Given the description of an element on the screen output the (x, y) to click on. 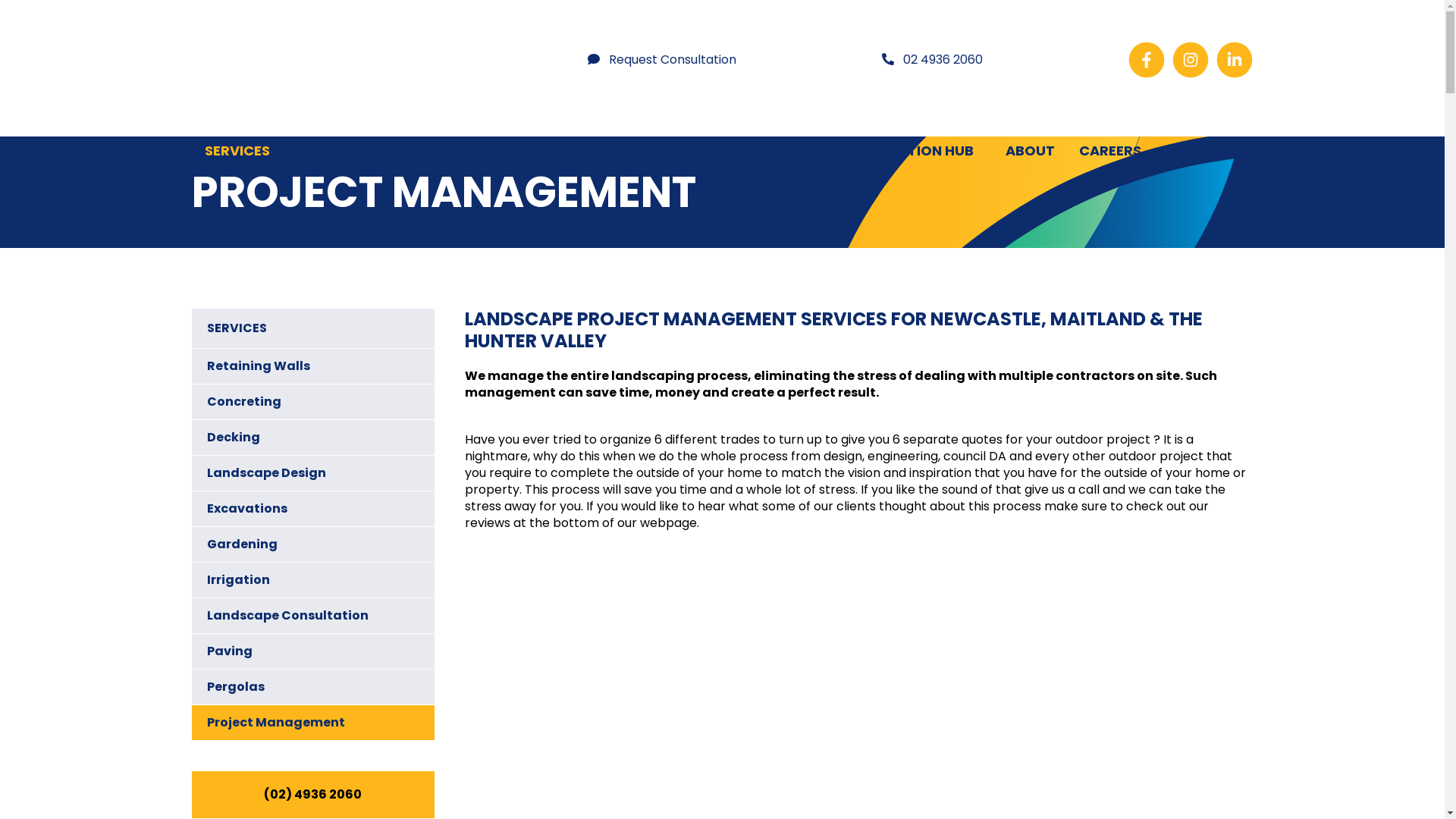
PERGOLAS Element type: text (961, 182)
Paving Element type: text (312, 650)
Excavations Element type: text (312, 508)
EXCAVATIONS Element type: text (509, 182)
Landscape Consultation Element type: text (312, 615)
SERVICES Element type: text (312, 328)
Jason Reading Landscapes Element type: hover (316, 59)
Concreting Element type: text (312, 401)
DESIGN Element type: text (320, 150)
Retaining Walls Element type: text (312, 365)
Pergolas Element type: text (312, 686)
CAREERS Element type: text (1110, 150)
Landscape Design Element type: text (312, 472)
GARDENING Element type: text (608, 182)
DECKING Element type: text (331, 182)
EDUCATION HUB Element type: text (917, 150)
Gardening Element type: text (312, 544)
Project Management Element type: text (312, 722)
LANDSCAPE DESIGN Element type: text (410, 190)
TESTIMONIALS Element type: text (771, 150)
02 4936 2060 Element type: text (931, 59)
SCHOOLS / COMMERCIAL Element type: text (470, 150)
SERVICES Element type: text (237, 150)
Decking Element type: text (312, 437)
CONTACT Element type: text (1202, 150)
LANDSCAPE CONSULTATION Element type: text (801, 190)
RESIDENTIAL Element type: text (644, 150)
PROJECT MANAGEMENT Element type: text (1054, 190)
Irrigation Element type: text (312, 579)
Request Consultation Element type: text (661, 59)
ABOUT Element type: text (1029, 150)
(02) 4936 2060 Element type: text (312, 794)
IRRIGATION Element type: text (696, 182)
CONCRETING Element type: text (244, 182)
RETAINING WALLS Element type: text (1150, 190)
PAVING Element type: text (889, 182)
